Given the description of an element on the screen output the (x, y) to click on. 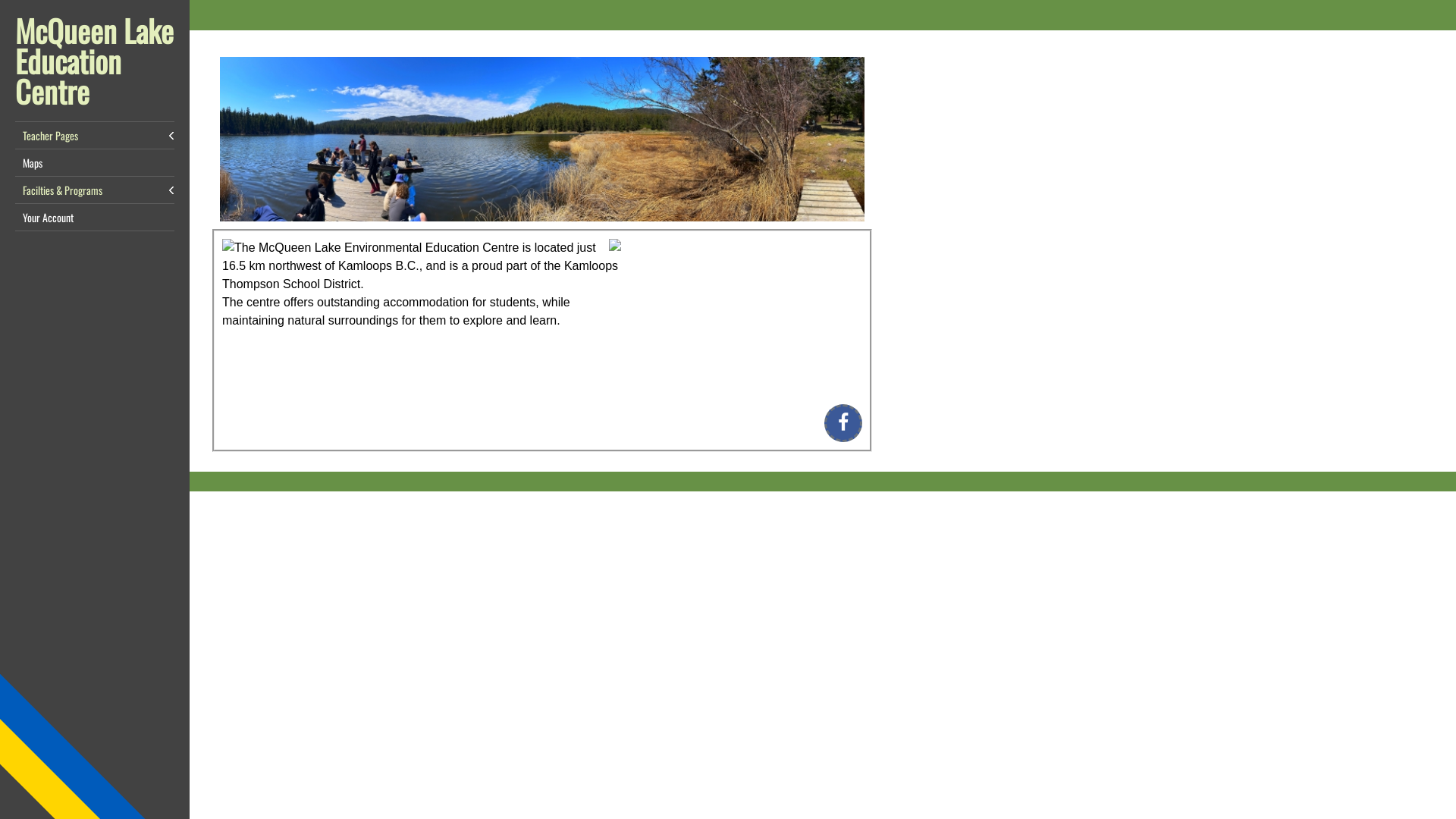
Maps Element type: text (94, 162)
Facilties & Programs Element type: text (94, 189)
  Element type: text (487, 301)
McQueen Lake Education Centre Element type: text (94, 60)
Teacher Pages Element type: text (94, 135)
Environment Canada Weather Element type: hover (749, 310)
Your Account Element type: text (94, 216)
